Given the description of an element on the screen output the (x, y) to click on. 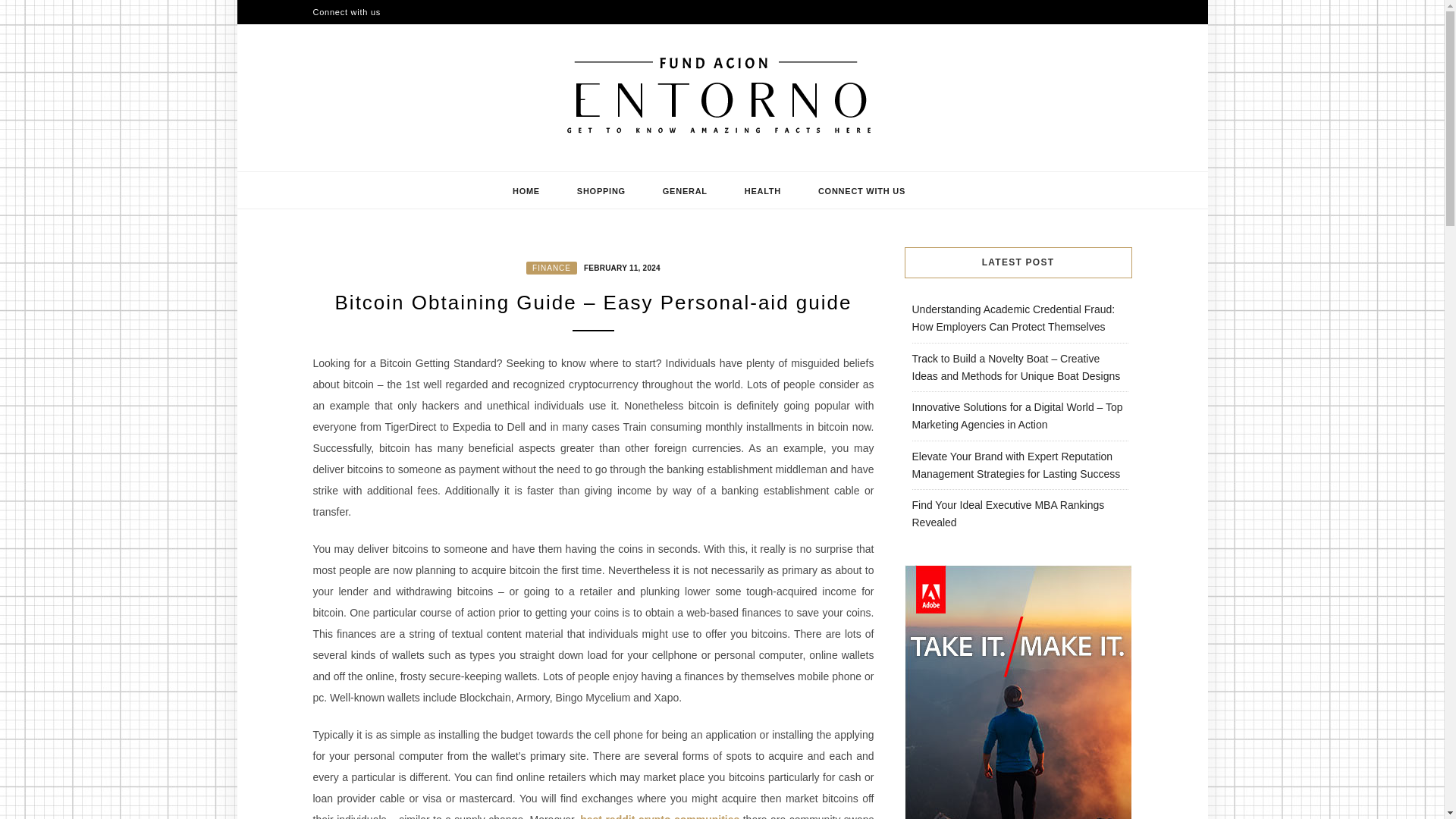
FUND ACION ENTORNO (497, 164)
Connect with us (346, 12)
FINANCE (550, 267)
FEBRUARY 11, 2024 (620, 266)
GENERAL (685, 190)
CONNECT WITH US (860, 190)
SHOPPING (600, 190)
best reddit crypto communities (659, 816)
